Given the description of an element on the screen output the (x, y) to click on. 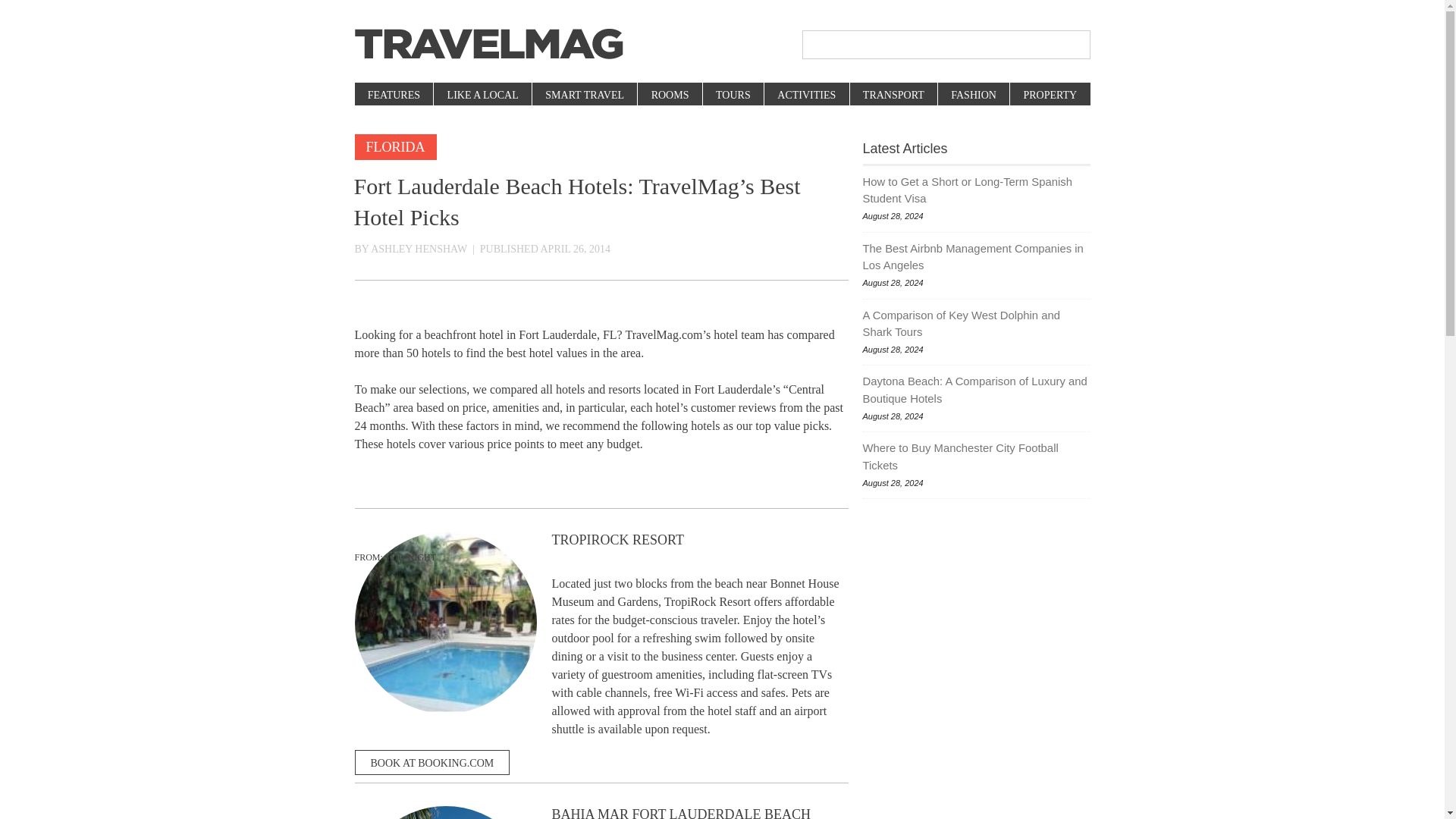
TRANSPORT (892, 95)
TOURS (731, 95)
ROOMS (669, 95)
How to Get a Short or Long-Term Spanish Student Visa (976, 190)
TravelMag (489, 43)
The Best Airbnb Management Companies in Los Angeles (976, 257)
FASHION (973, 95)
Daytona Beach: A Comparison of Luxury and Boutique Hotels (976, 390)
ACTIVITIES (805, 95)
A Comparison of Key West Dolphin and Shark Tours  (976, 324)
